Given the description of an element on the screen output the (x, y) to click on. 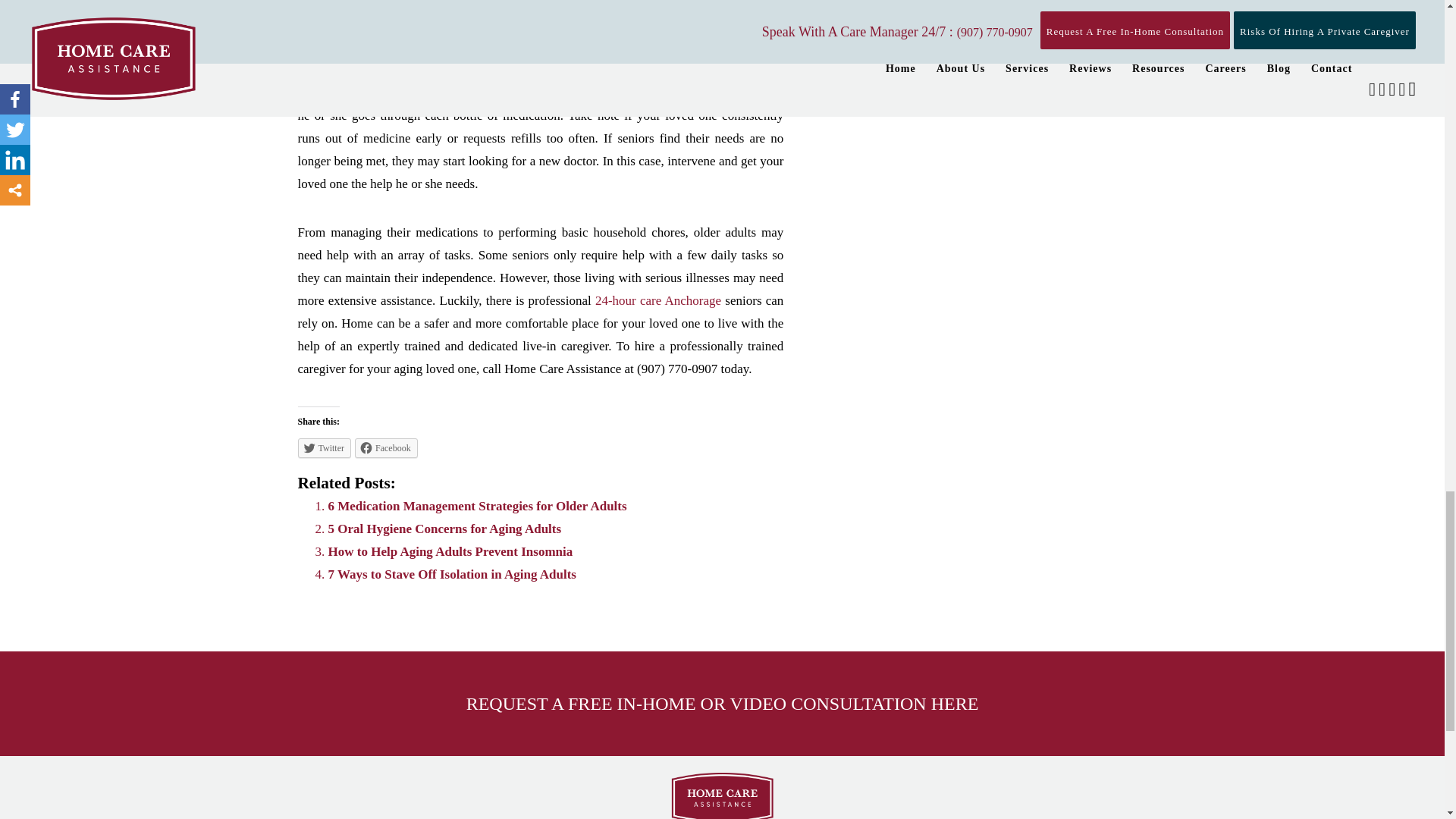
Click to share on Facebook (386, 447)
5 Oral Hygiene Concerns for Aging Adults (443, 528)
7 Ways to Stave Off Isolation in Aging Adults (451, 574)
Click to share on Twitter (323, 447)
How to Help Aging Adults Prevent Insomnia (449, 551)
6 Medication Management Strategies for Older Adults (476, 505)
